Given the description of an element on the screen output the (x, y) to click on. 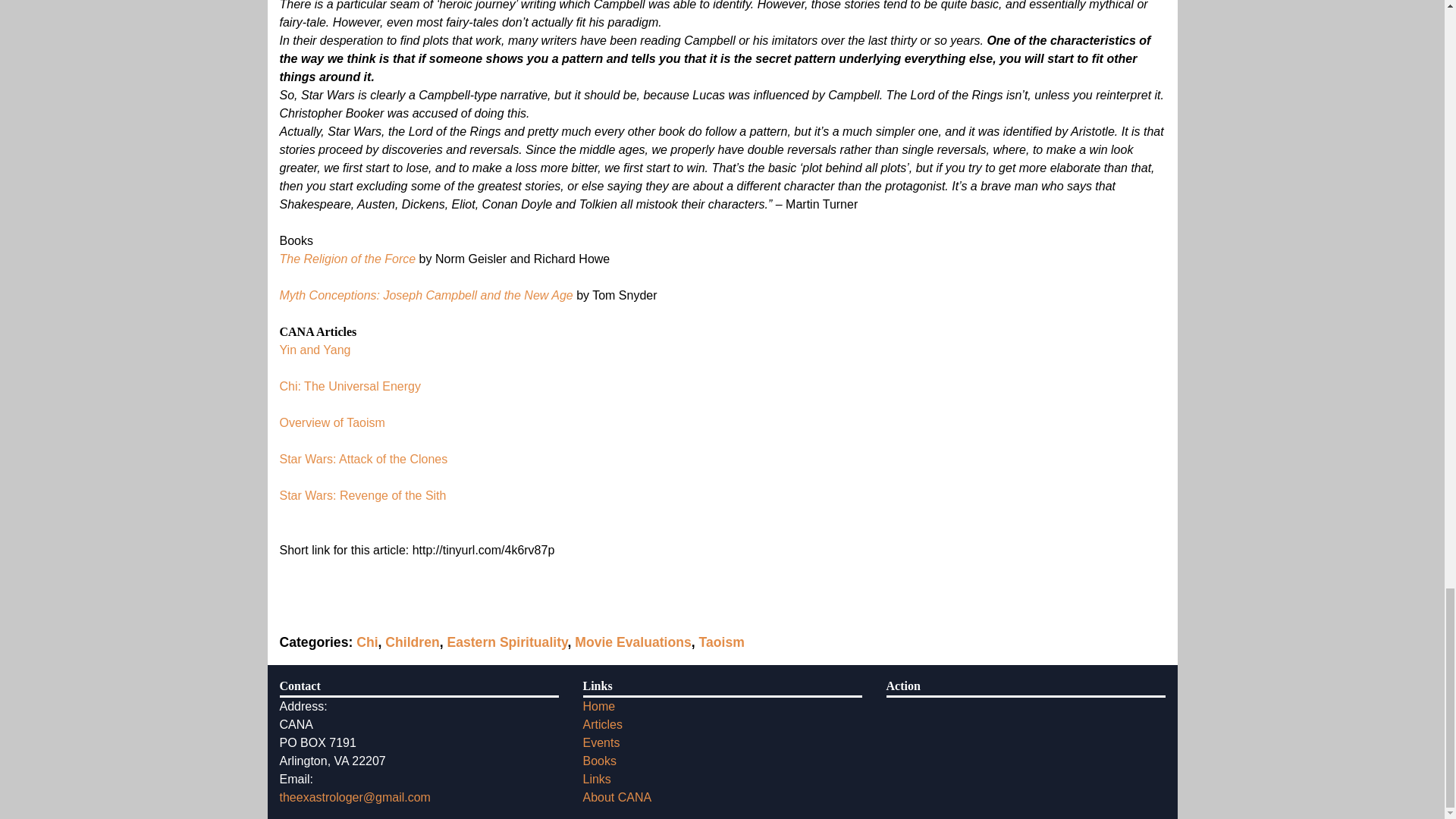
Overview of Taoism (331, 422)
Star Wars: Revenge of the Sith (362, 495)
Myth Conceptions: Joseph Campbell and the New Age (425, 295)
The Religion of the Force (346, 258)
Chi: The Universal Energy (349, 386)
Yin and Yang (314, 349)
Star Wars: Attack of the Clones (362, 459)
